Given the description of an element on the screen output the (x, y) to click on. 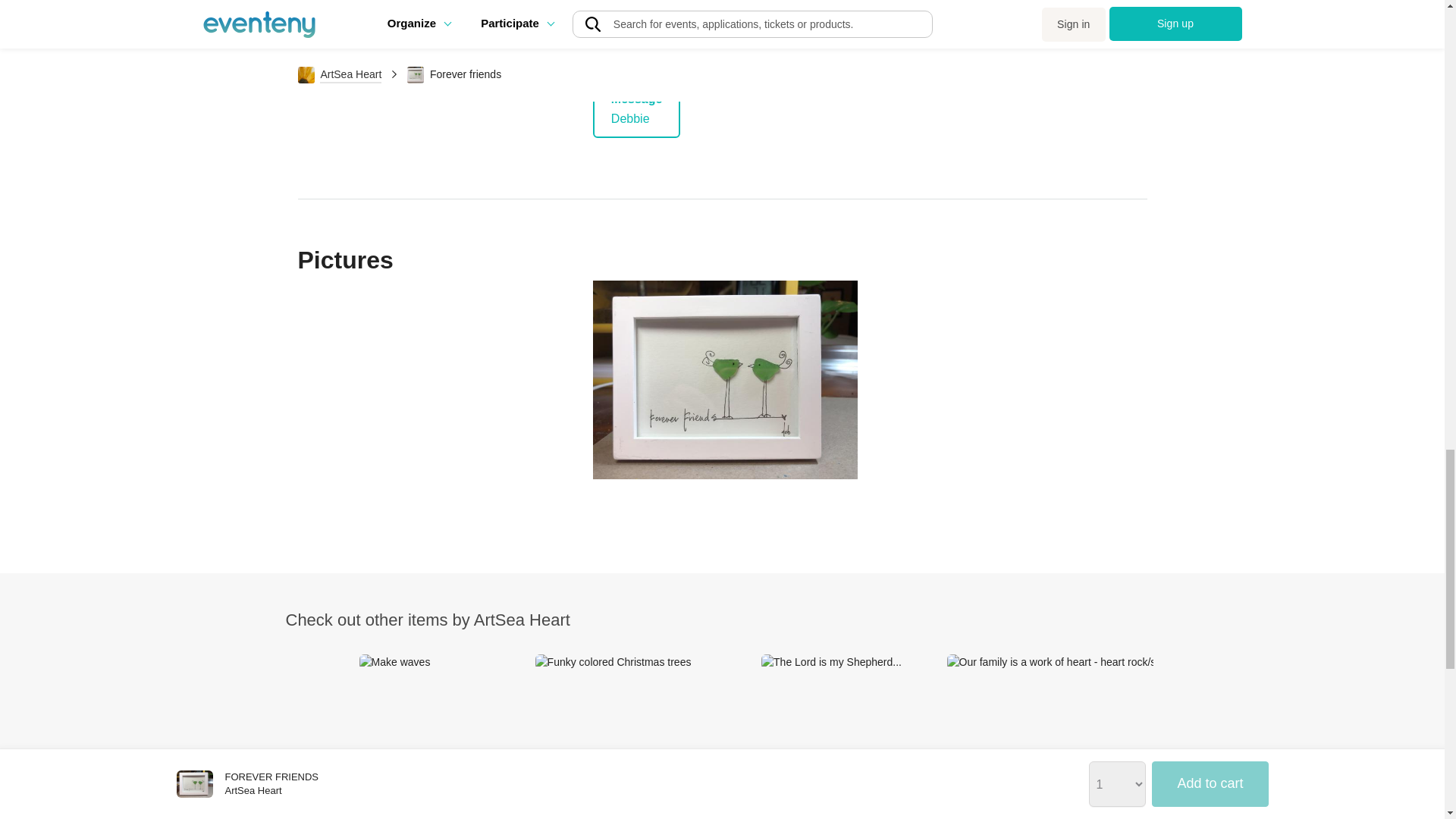
View or purchase The Lord is my Shepherd... (831, 736)
View or purchase Make waves (394, 736)
View or purchase Funky colored Christmas trees (612, 736)
